Given the description of an element on the screen output the (x, y) to click on. 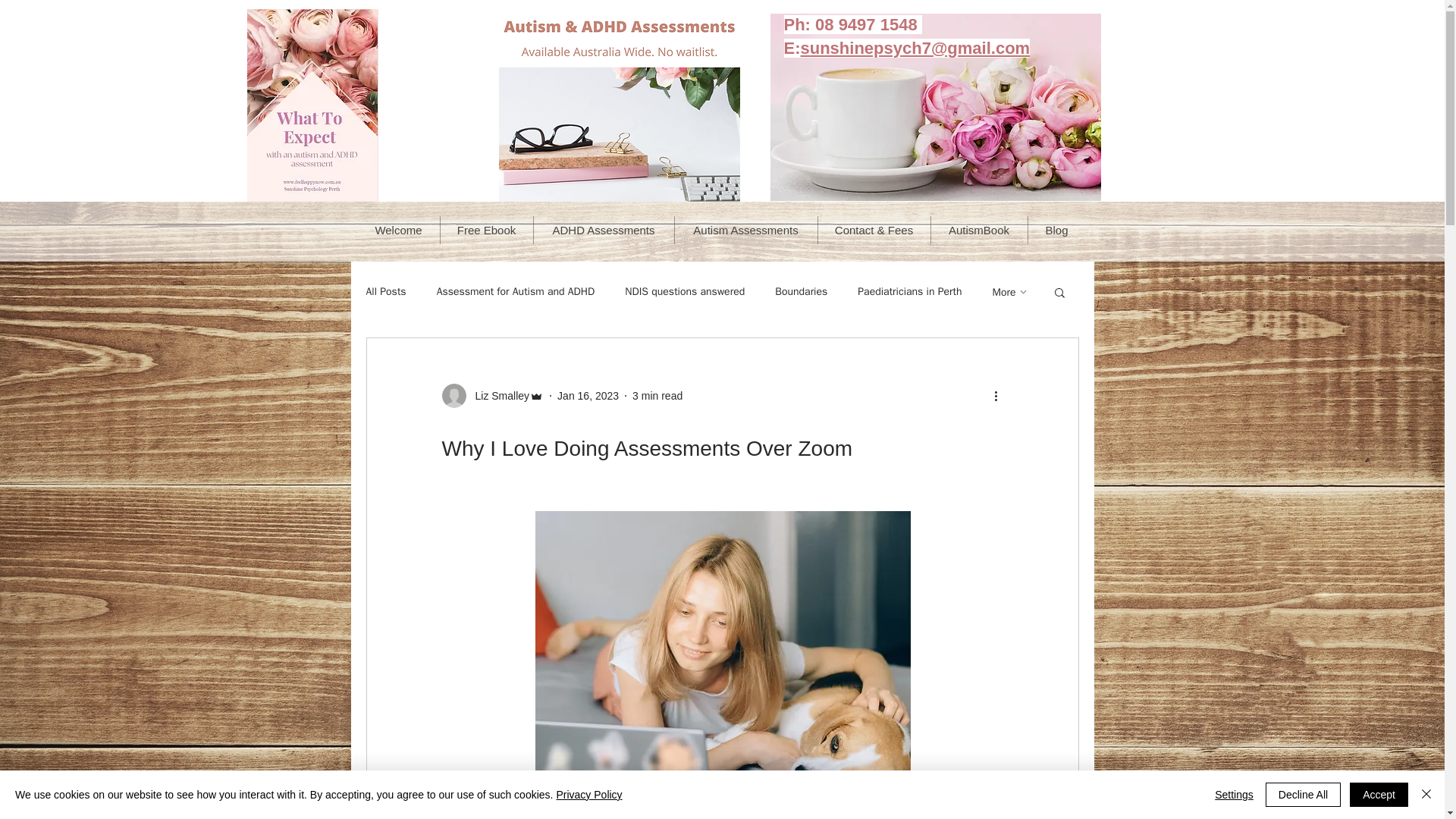
3 min read (656, 395)
Boundaries (800, 291)
ADHD Assessments (602, 230)
Free Ebook (485, 230)
AutismBook (978, 230)
Liz Smalley (497, 396)
Liz Smalley (492, 395)
Welcome (398, 230)
Jan 16, 2023 (587, 395)
NDIS questions answered (684, 291)
